Given the description of an element on the screen output the (x, y) to click on. 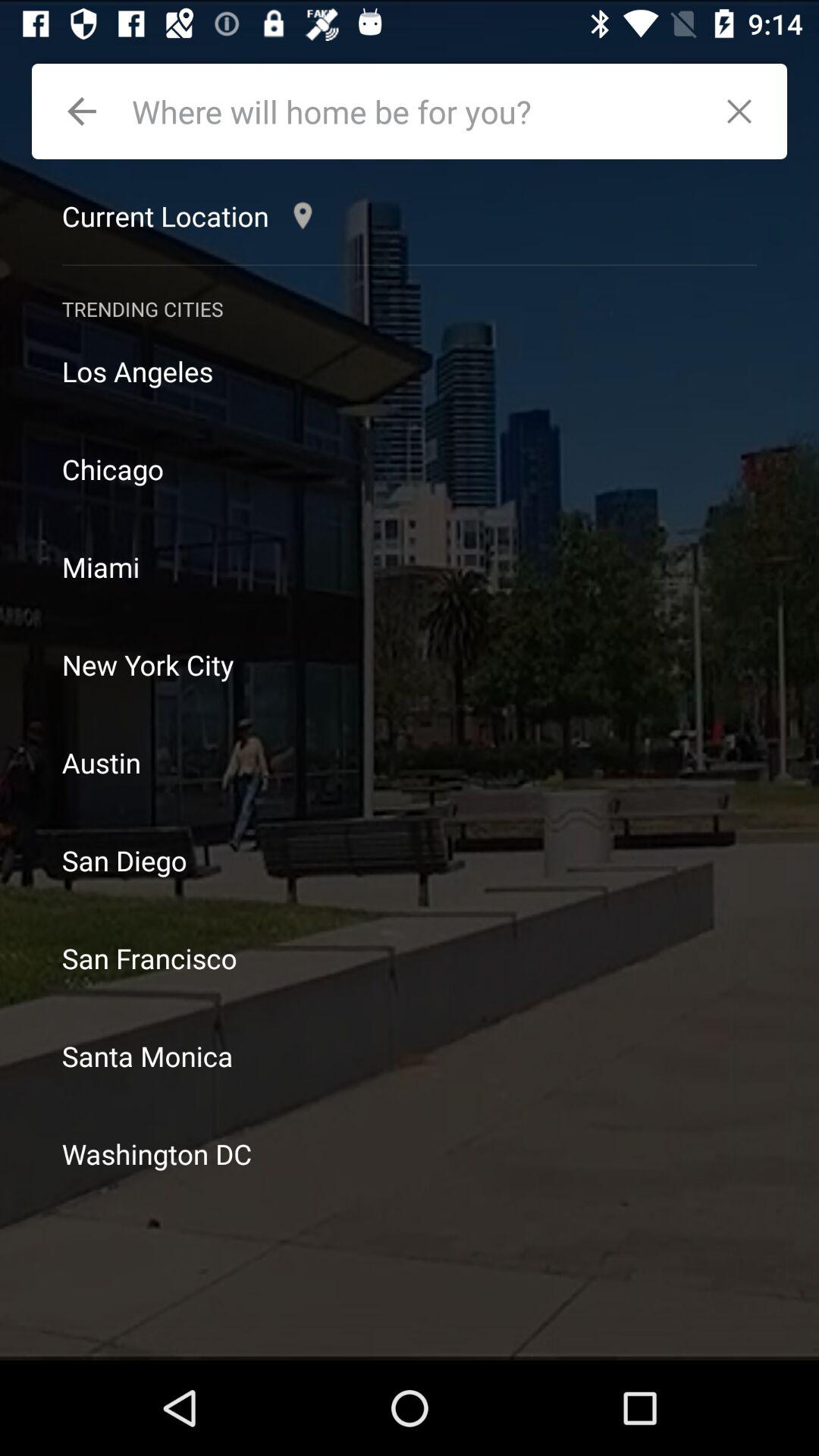
press icon below current location icon (409, 265)
